Given the description of an element on the screen output the (x, y) to click on. 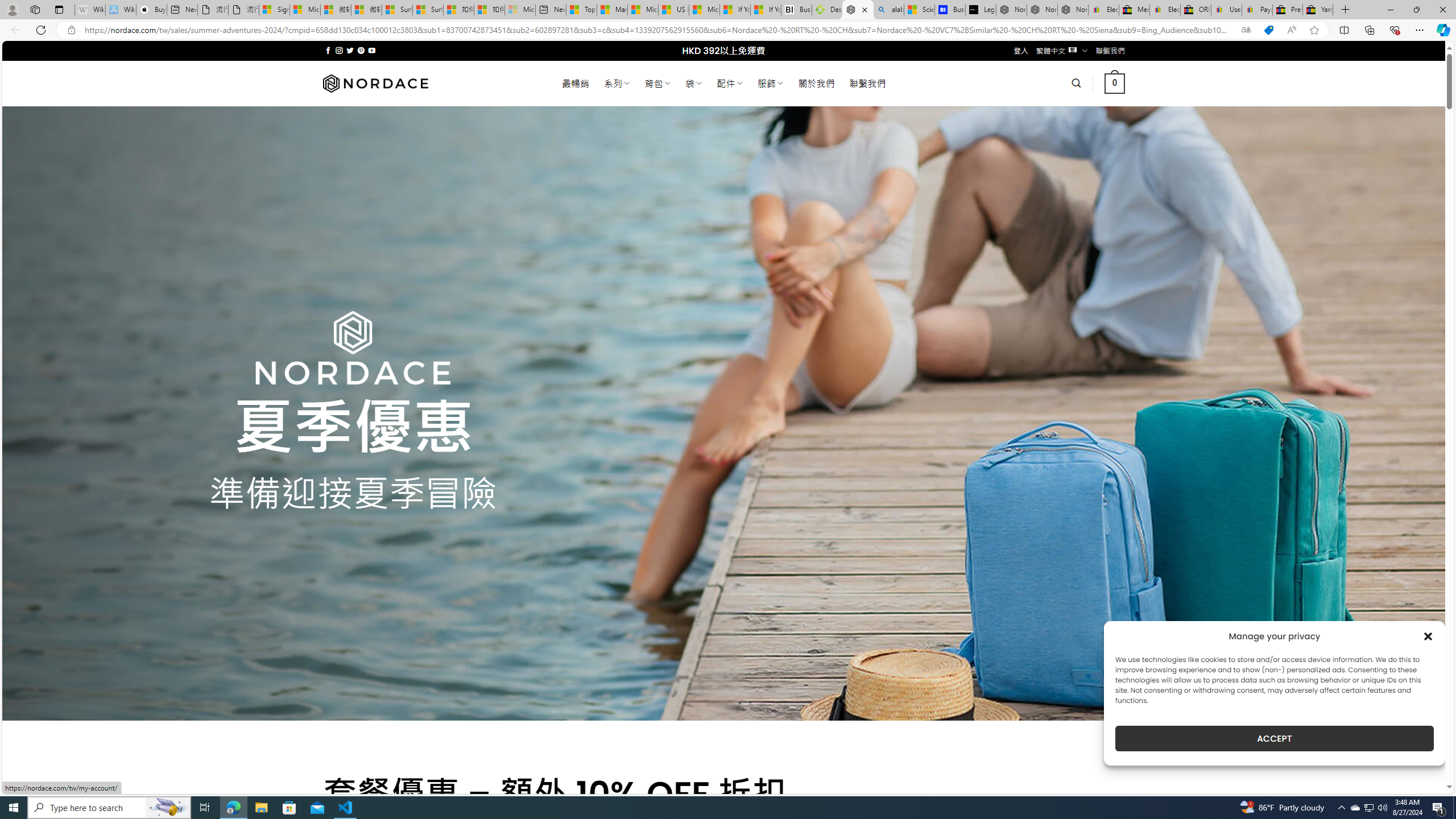
User Privacy Notice | eBay (1226, 9)
US Heat Deaths Soared To Record High Last Year (673, 9)
Marine life - MSN (611, 9)
This site has coupons! Shopping in Microsoft Edge (1268, 29)
